Given the description of an element on the screen output the (x, y) to click on. 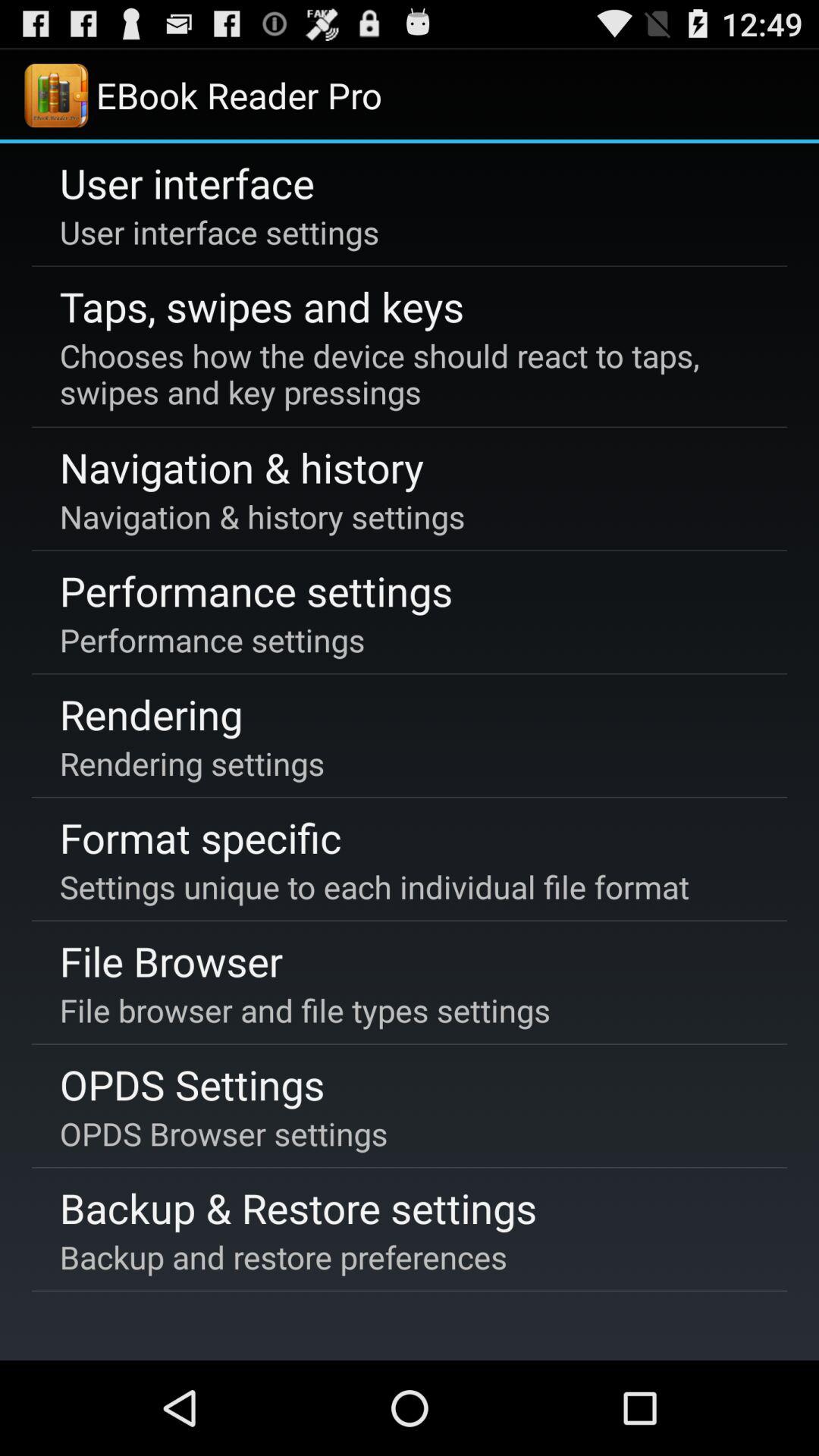
select the item above format specific app (191, 762)
